Given the description of an element on the screen output the (x, y) to click on. 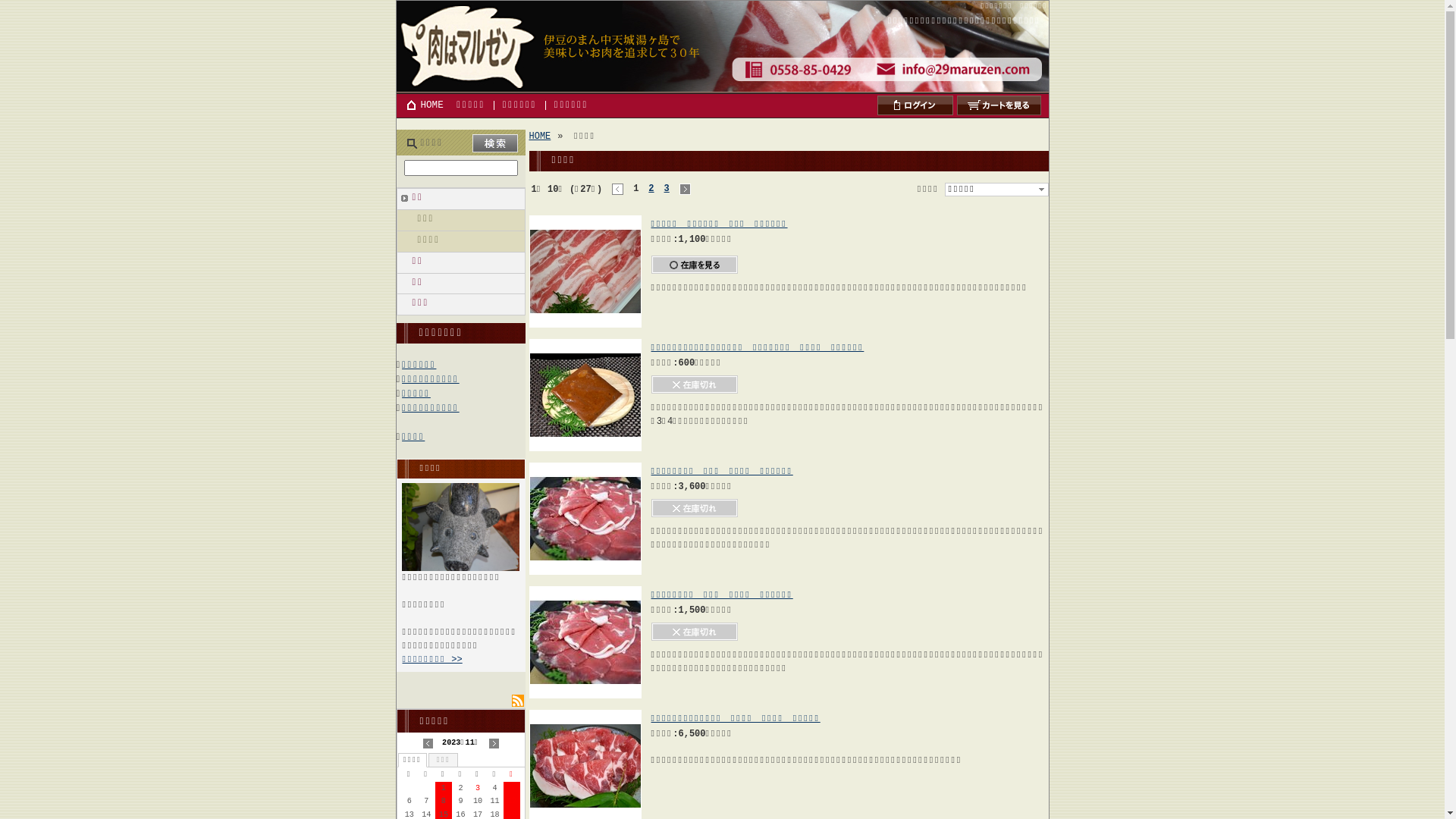
2 Element type: text (650, 188)
HOME Element type: text (422, 105)
3 Element type: text (666, 188)
HOME Element type: text (540, 136)
